Given the description of an element on the screen output the (x, y) to click on. 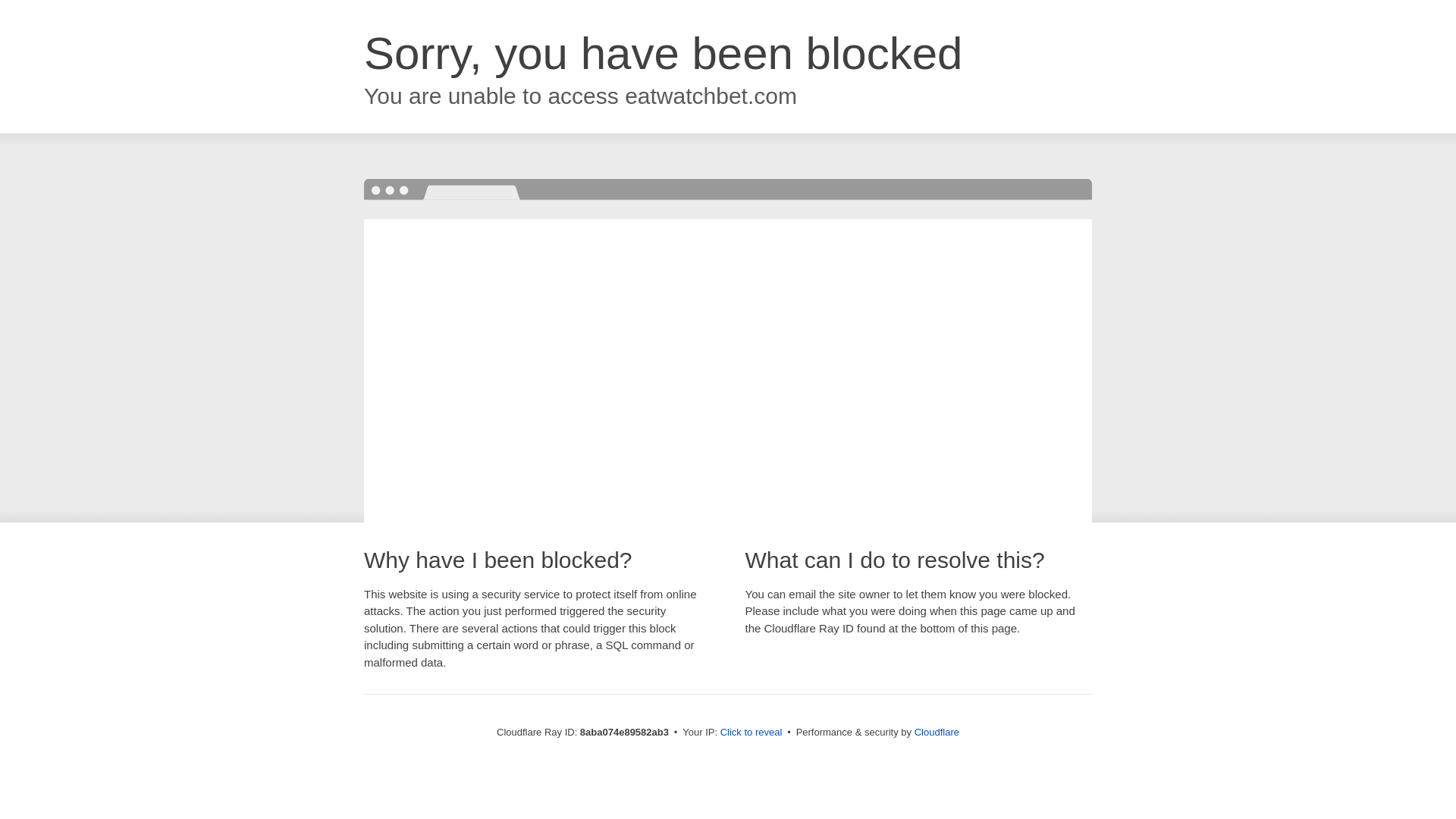
Click to reveal (751, 732)
Cloudflare (936, 731)
